Given the description of an element on the screen output the (x, y) to click on. 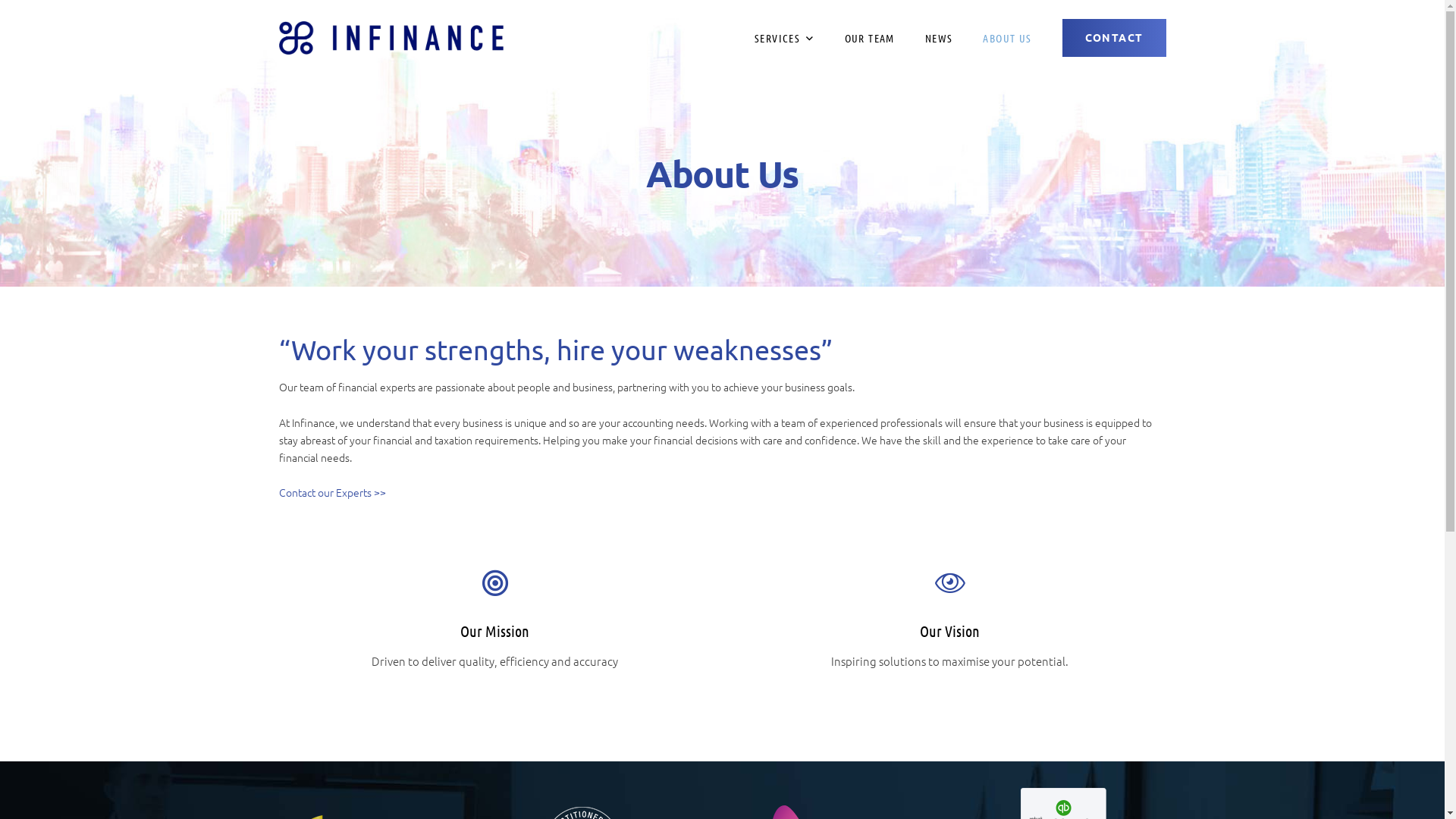
CONTACT Element type: text (1114, 37)
Contact our Experts >> Element type: text (332, 491)
Infinance Solutions- Element type: hover (391, 38)
ABOUT US Element type: text (1006, 37)
OUR TEAM Element type: text (869, 37)
SERVICES Element type: text (784, 37)
NEWS Element type: text (939, 37)
